Given the description of an element on the screen output the (x, y) to click on. 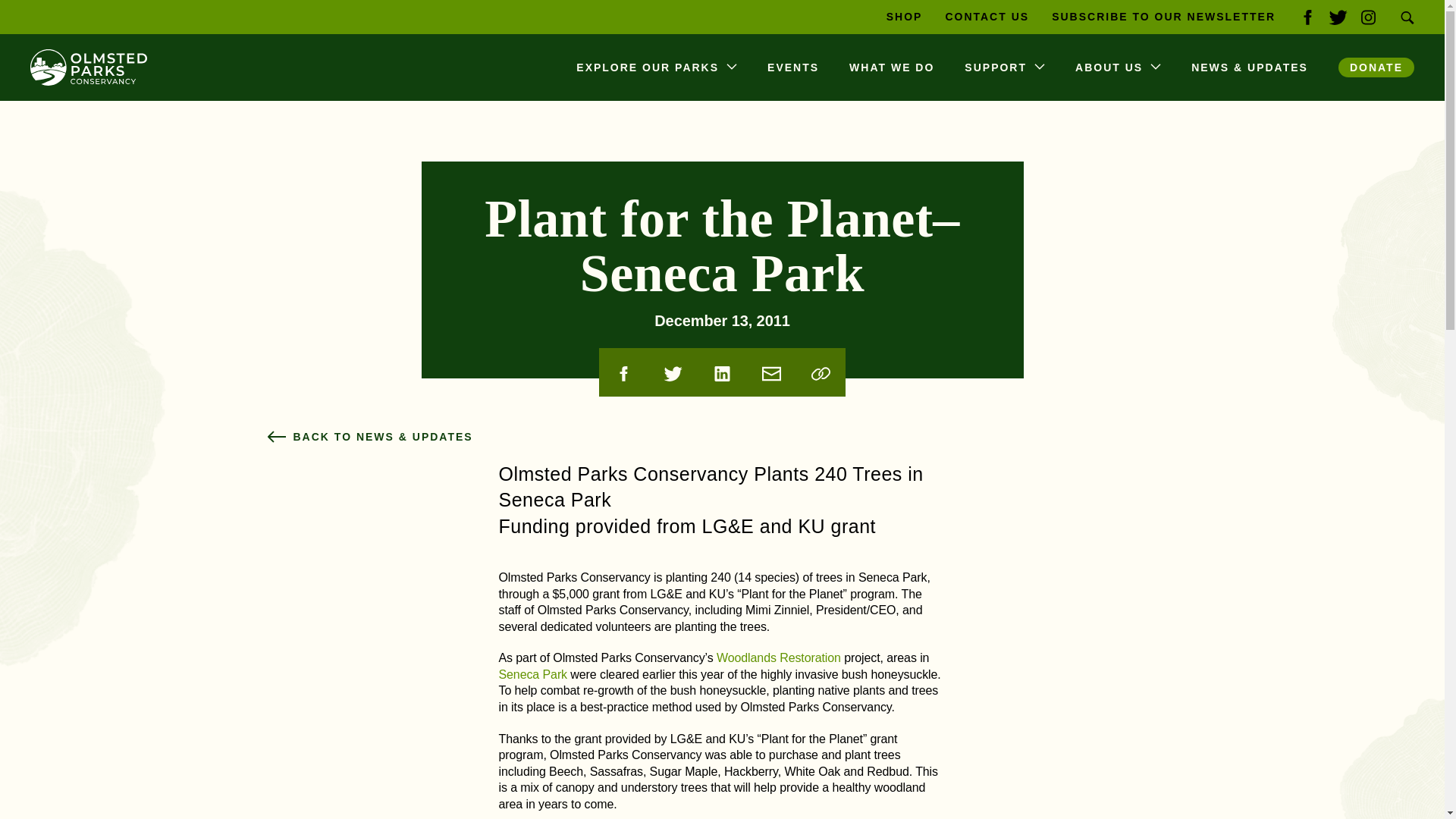
SUBSCRIBE TO OUR NEWSLETTER (1163, 16)
EVENTS (793, 67)
SUPPORT (1004, 67)
SHOP (904, 16)
CONTACT US (986, 16)
EXPLORE OUR PARKS (656, 67)
WHAT WE DO (891, 67)
